Given the description of an element on the screen output the (x, y) to click on. 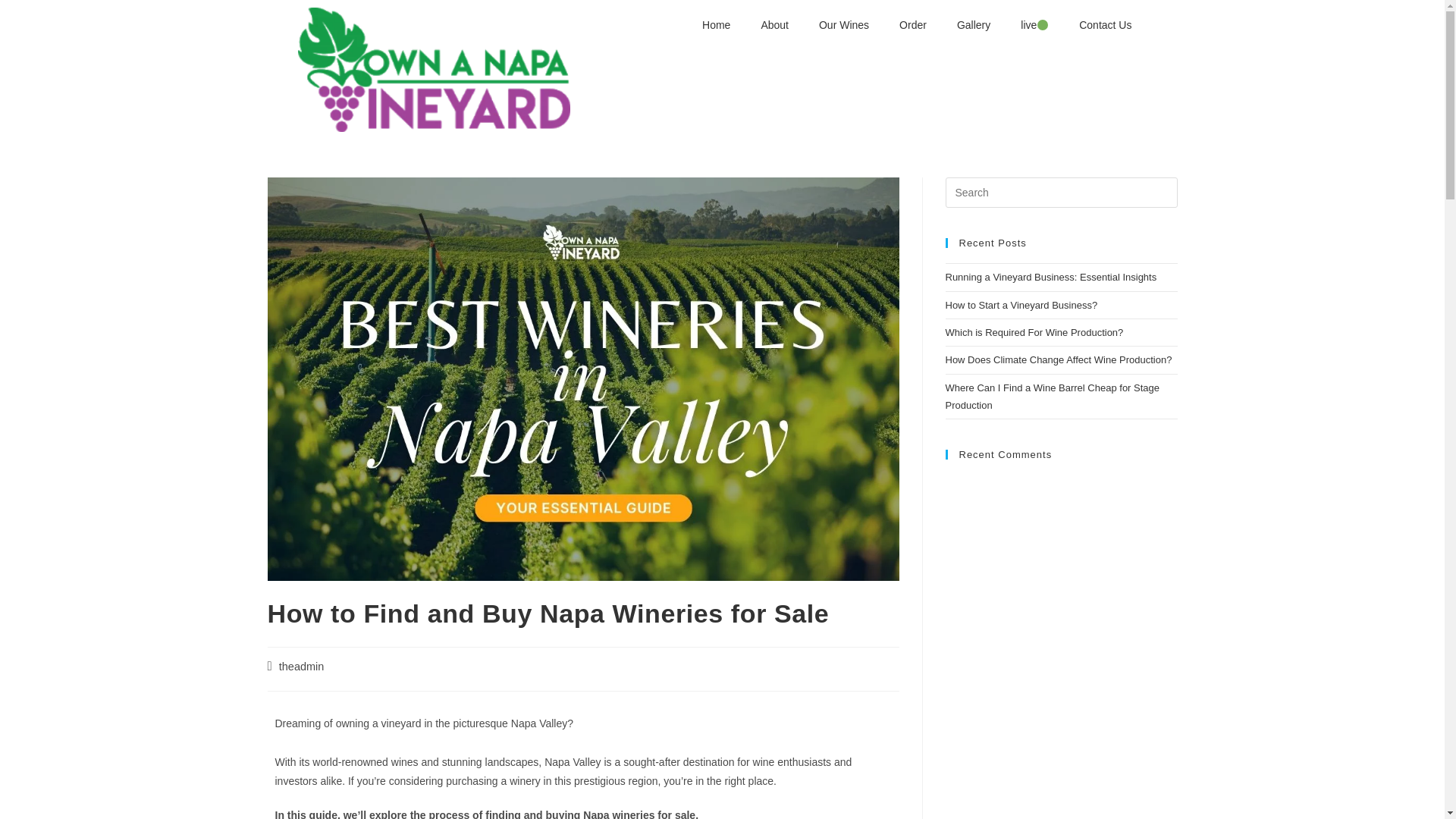
Posts by theadmin (301, 666)
How Does Climate Change Affect Wine Production? (1058, 359)
How to Start a Vineyard Business? (1020, 305)
Home (716, 24)
Contact Us (1105, 24)
Running a Vineyard Business: Essential Insights (1050, 276)
live (1035, 24)
Gallery (974, 24)
Our Wines (843, 24)
Where Can I Find a Wine Barrel Cheap for Stage Production (1051, 396)
Which is Required For Wine Production? (1033, 332)
About (774, 24)
theadmin (301, 666)
Order (912, 24)
